Given the description of an element on the screen output the (x, y) to click on. 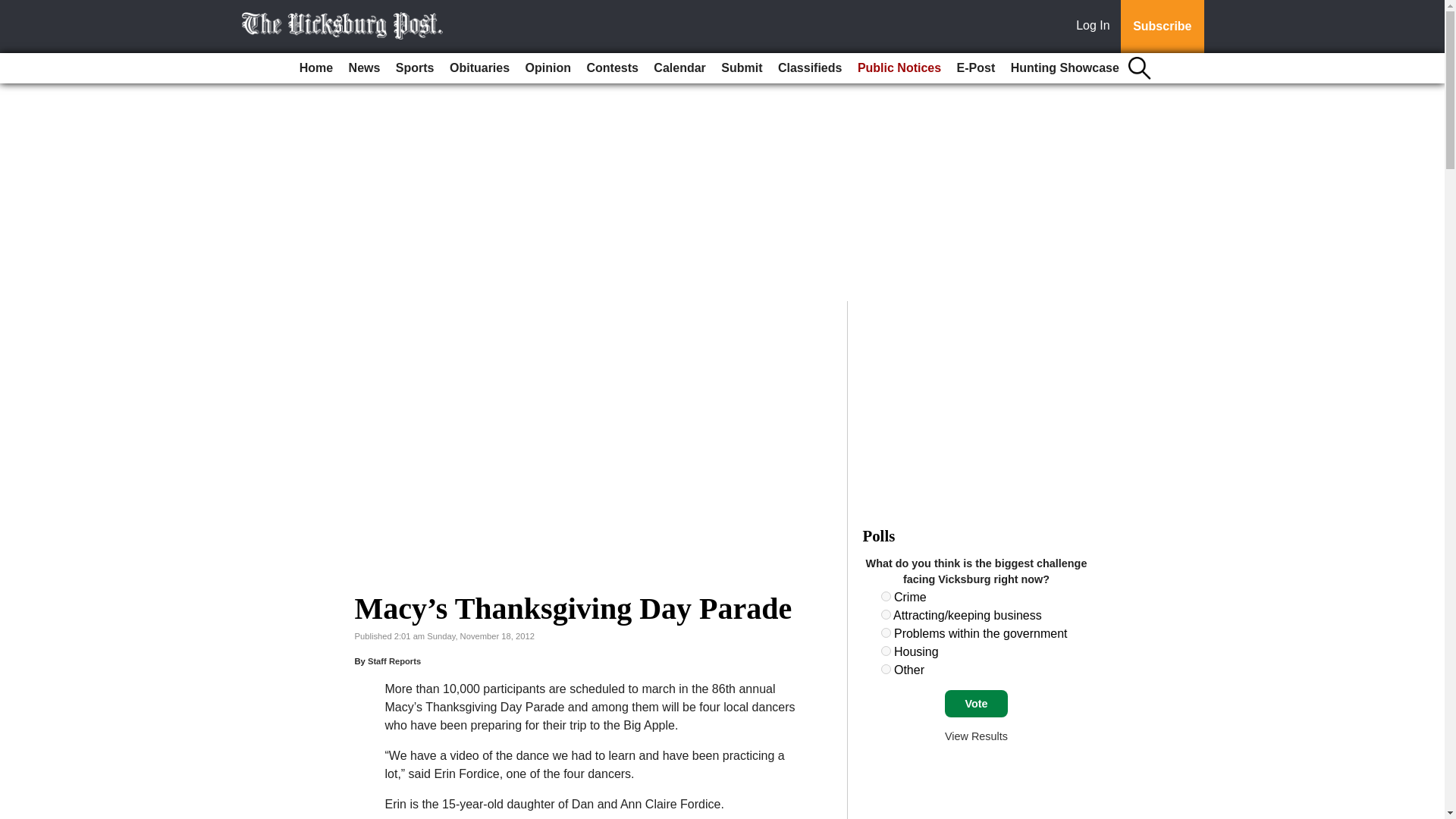
598 (885, 614)
597 (885, 596)
Classifieds (809, 68)
E-Post (975, 68)
Calendar (679, 68)
Log In (1095, 26)
601 (885, 669)
News (364, 68)
   Vote    (975, 703)
Opinion (547, 68)
Public Notices (899, 68)
Home (316, 68)
View Results Of This Poll (975, 736)
Go (13, 9)
Submit (741, 68)
